Given the description of an element on the screen output the (x, y) to click on. 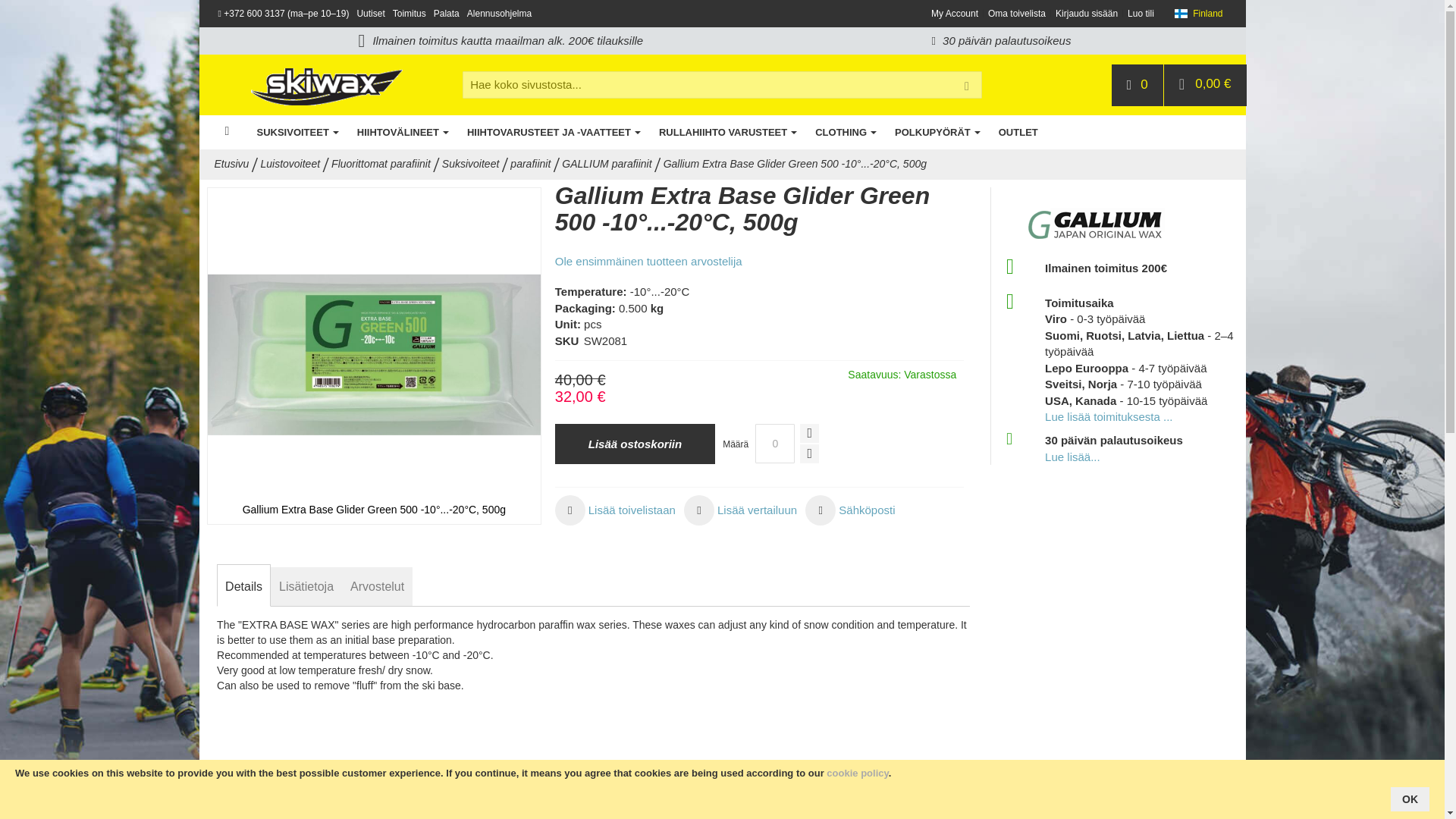
Palata (446, 13)
My Account (955, 13)
parafiinit (530, 163)
Alennusohjelma (499, 13)
GALLIUM parafiinit (606, 163)
Kieli (1198, 13)
Luistovoiteet (290, 163)
Luo tili (1140, 13)
Search (966, 86)
Uutiset (370, 13)
Vertaa tuotteita (1137, 84)
Fluorittomat parafiinit (380, 163)
Skiwax Europe (326, 84)
OK (1409, 799)
0 (774, 443)
